Given the description of an element on the screen output the (x, y) to click on. 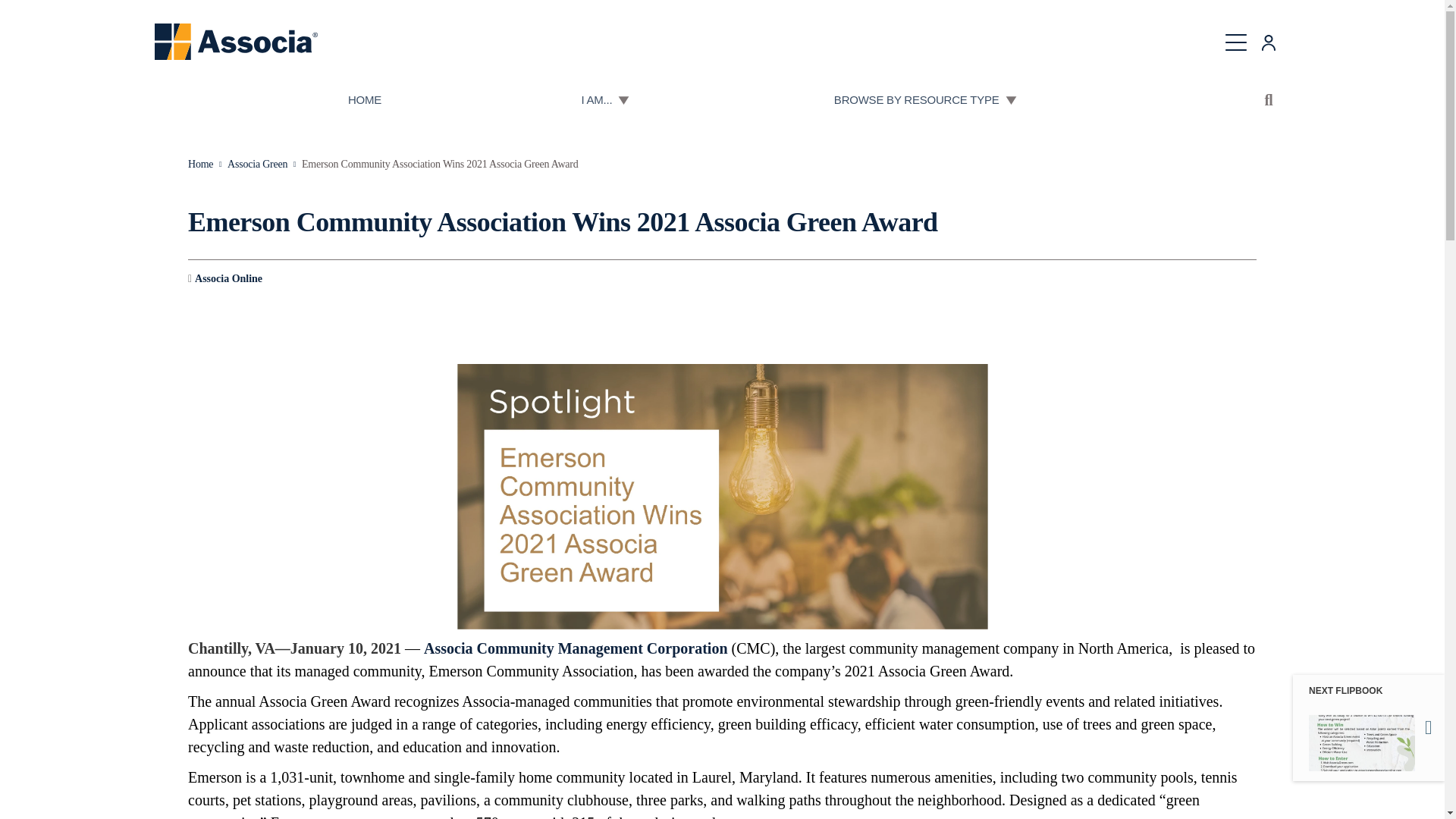
Open Search Box (1268, 99)
Request a Proposal (1007, 22)
Community Case Studies (722, 22)
Author (224, 278)
